Given the description of an element on the screen output the (x, y) to click on. 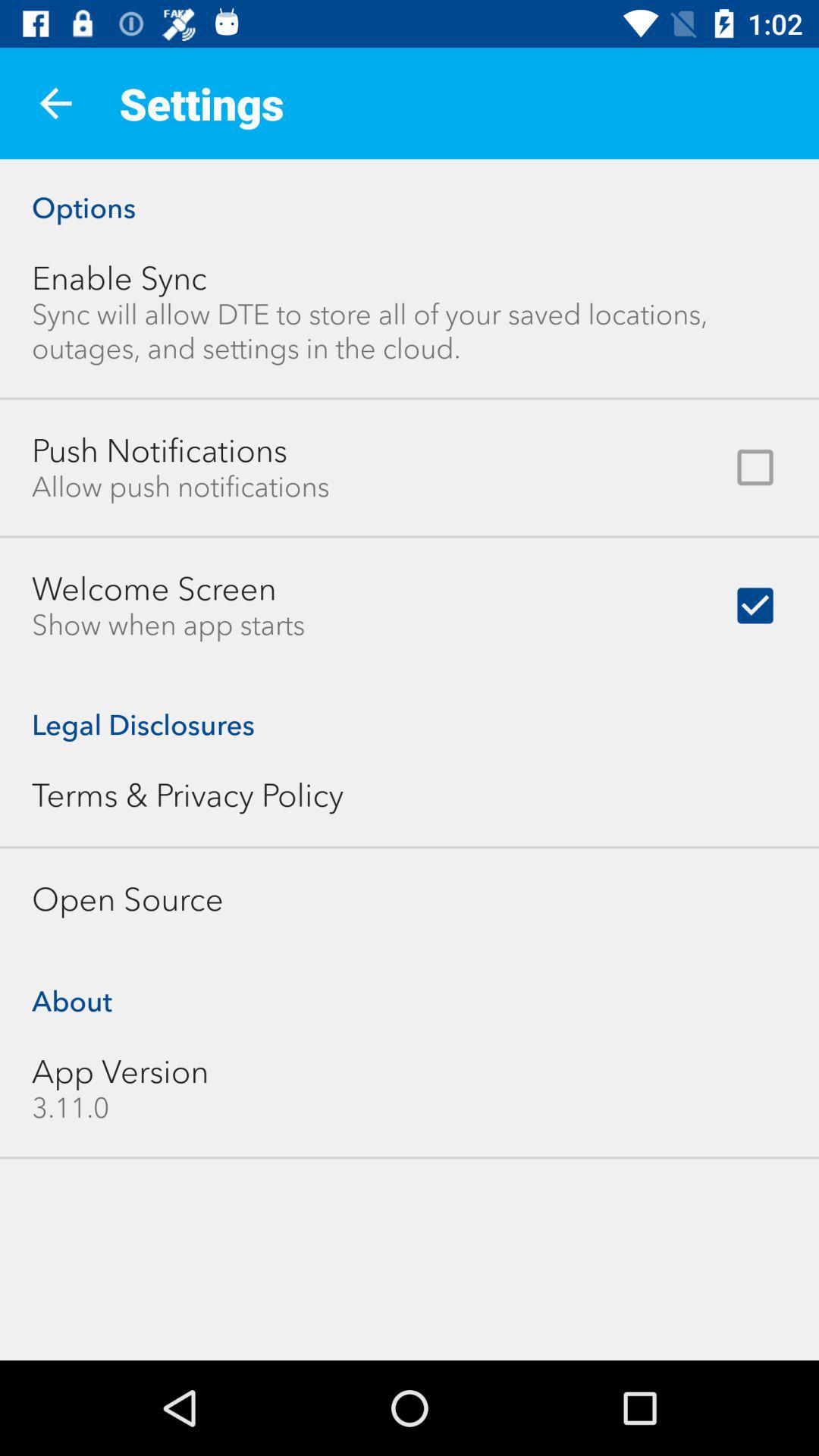
launch item above legal disclosures icon (167, 624)
